Given the description of an element on the screen output the (x, y) to click on. 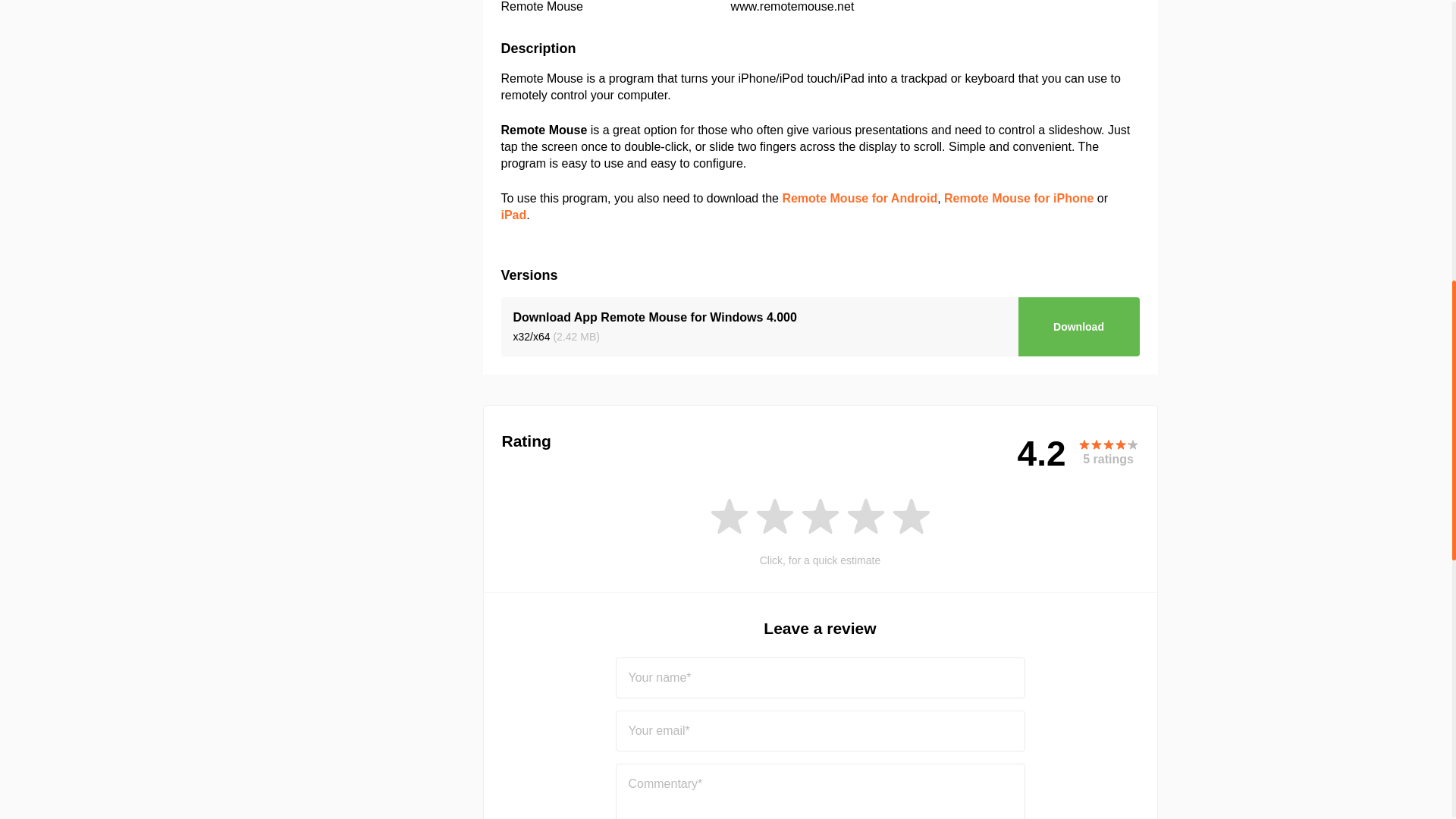
Download (1077, 326)
iPad (512, 214)
Remote Mouse for iPhone (1018, 197)
Remote Mouse (541, 6)
Download App Remote Mouse for Windows 4.000 (654, 317)
Remote Mouse for Android (859, 197)
